Given the description of an element on the screen output the (x, y) to click on. 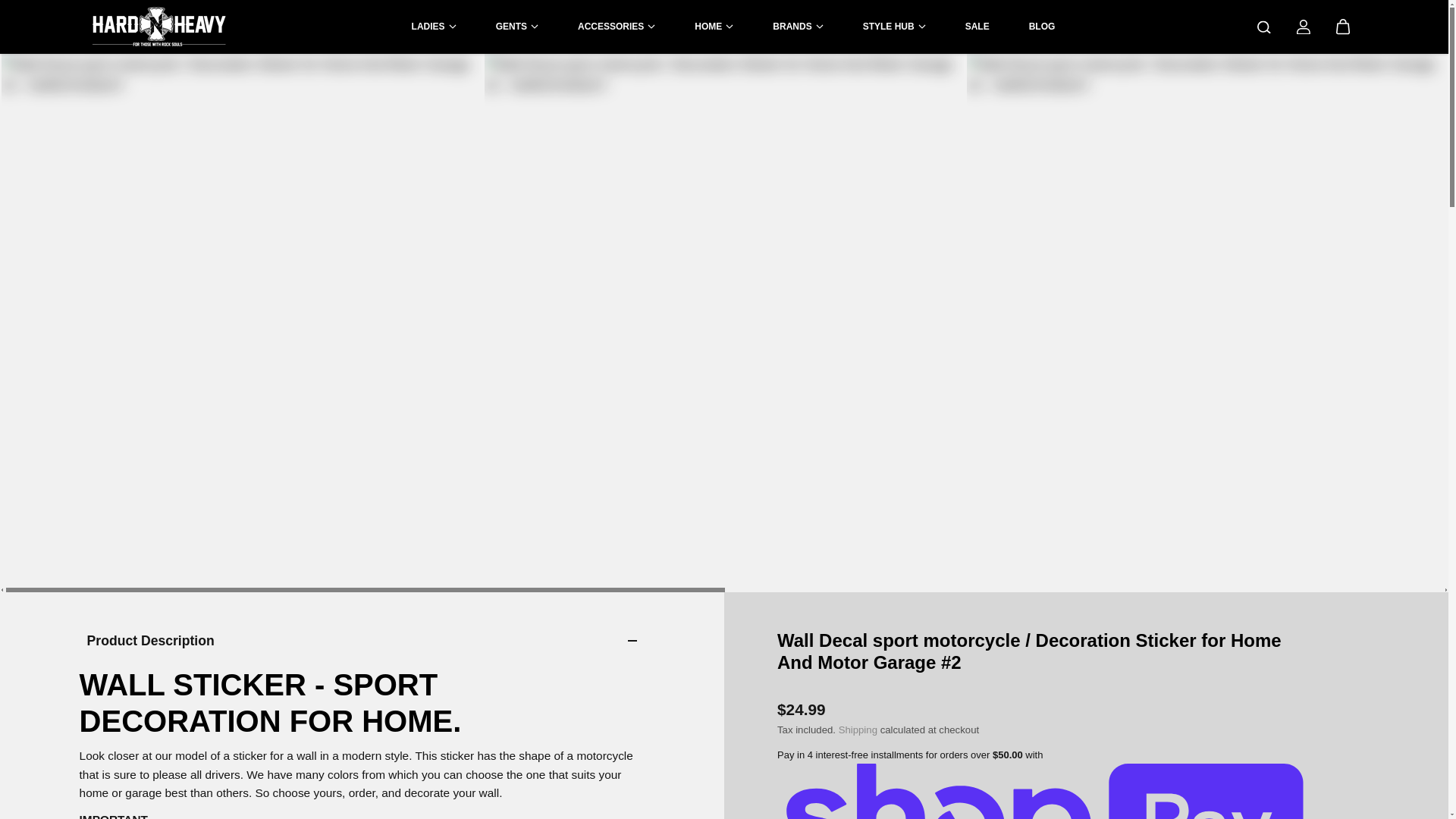
Skip to content (64, 18)
Search (1263, 26)
Log in (1302, 26)
LADIES (434, 26)
